Given the description of an element on the screen output the (x, y) to click on. 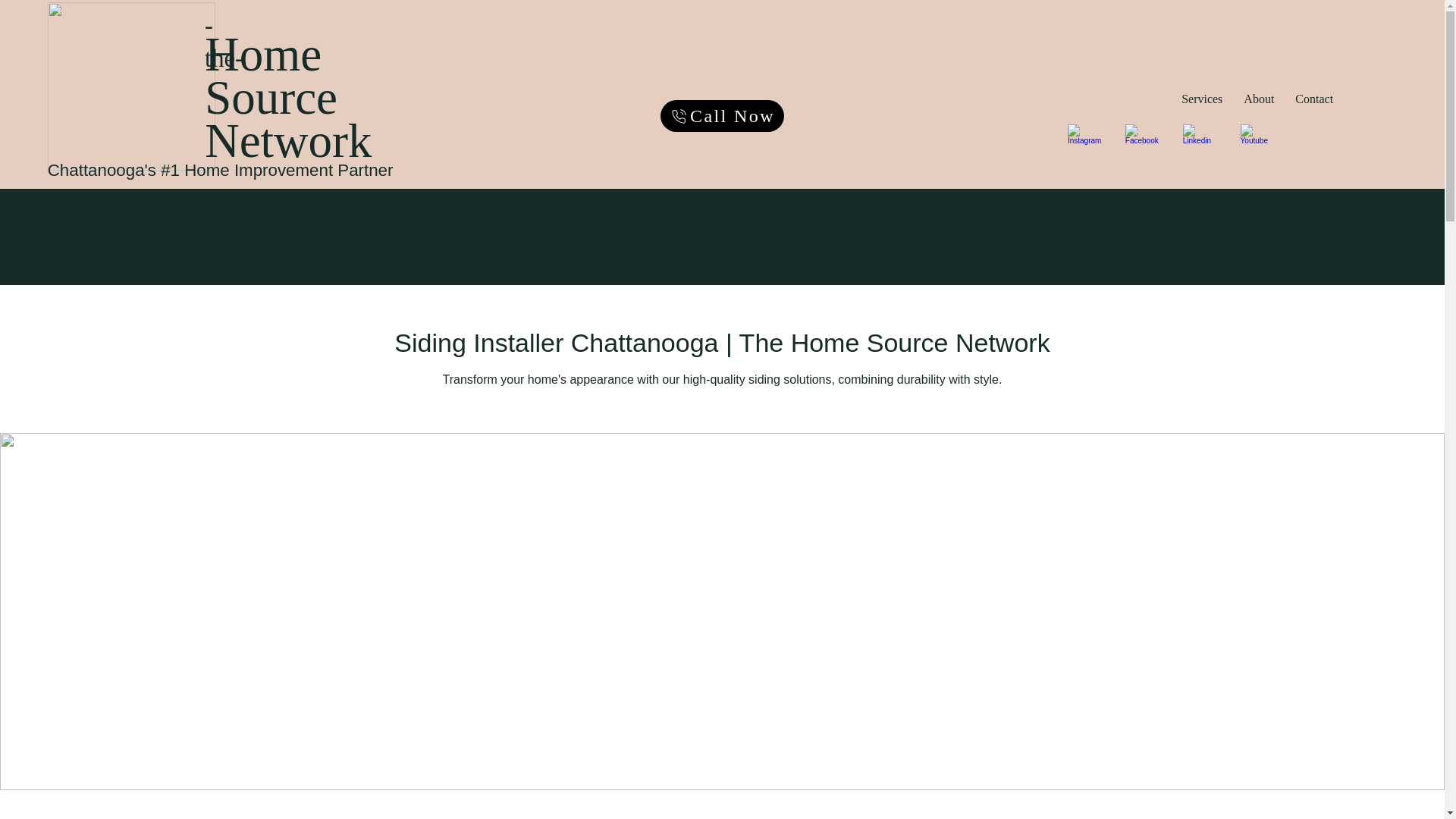
Home (263, 54)
Call Now (722, 115)
Services (1201, 99)
About (1258, 99)
Contact (1087, 99)
Source Network (1313, 99)
